Given the description of an element on the screen output the (x, y) to click on. 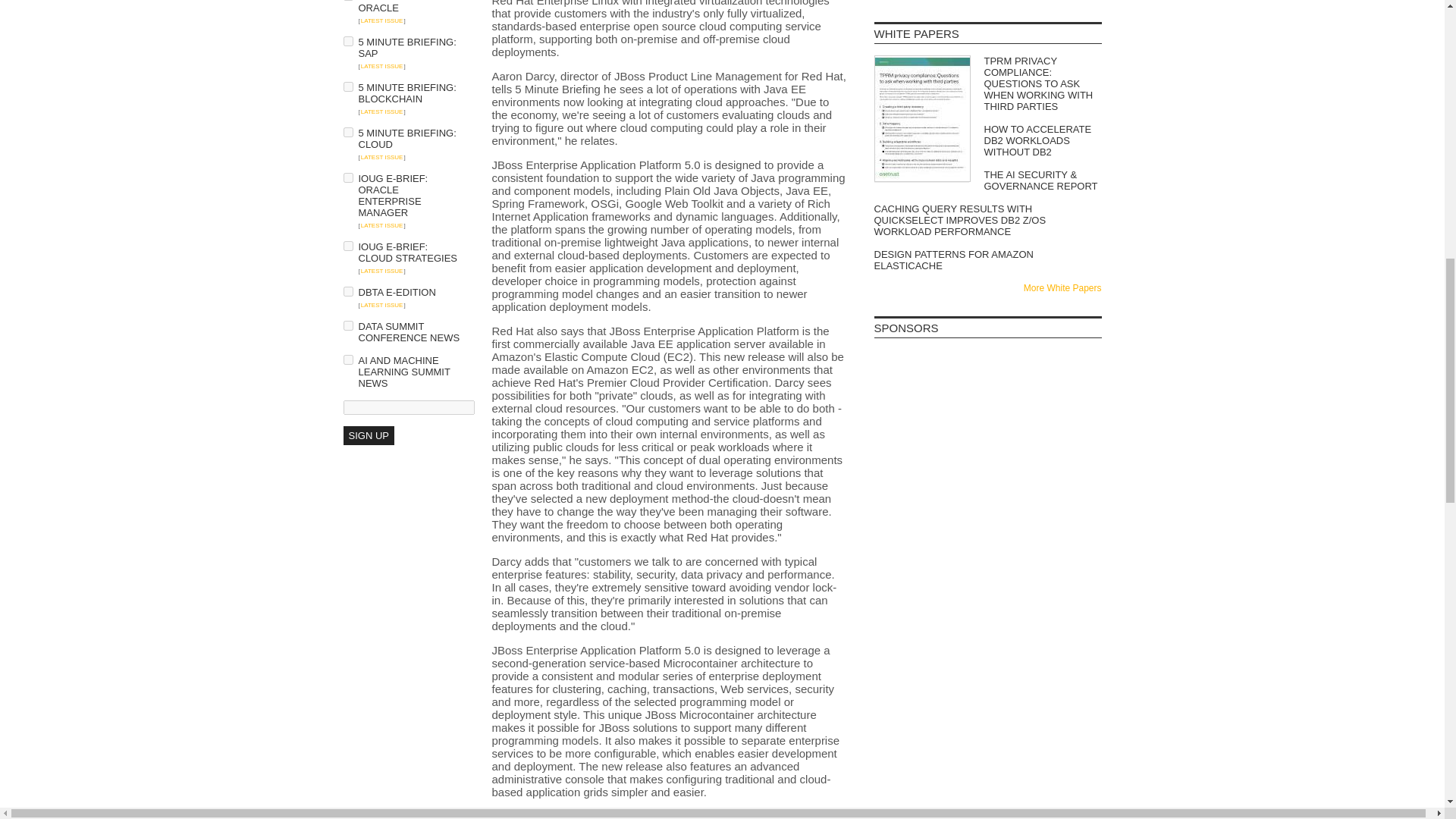
Sign Up (367, 435)
Design patterns for Amazon ElastiCache (986, 259)
How to Accelerate DB2 Workloads Without DB2 (986, 140)
3rd party ad content (403, 637)
on (347, 245)
on (347, 86)
on (347, 291)
on (347, 132)
on (347, 359)
on (347, 177)
on (347, 325)
3rd party ad content (986, 569)
3rd party ad content (986, 387)
